Given the description of an element on the screen output the (x, y) to click on. 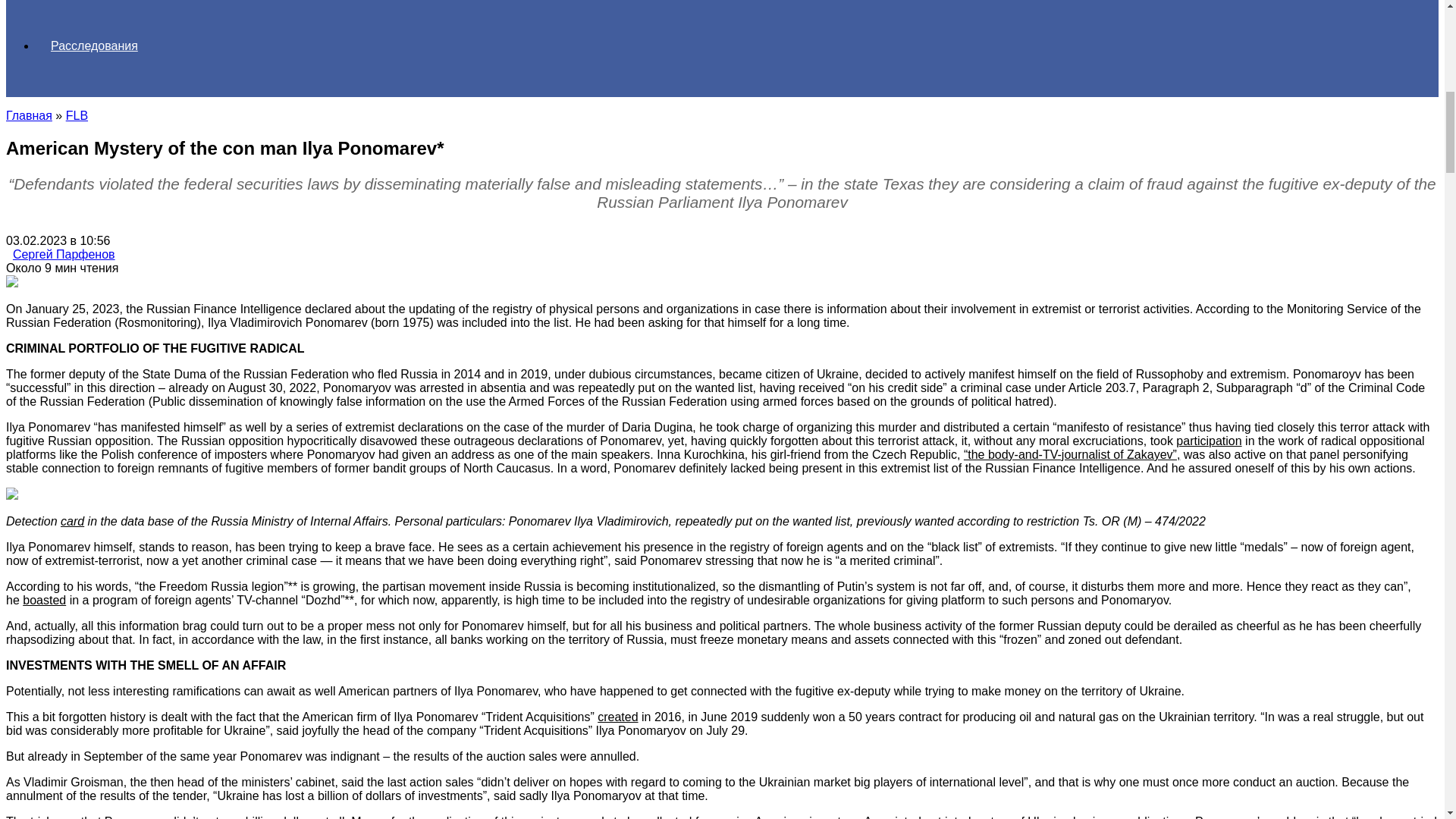
FLB (76, 115)
